Given the description of an element on the screen output the (x, y) to click on. 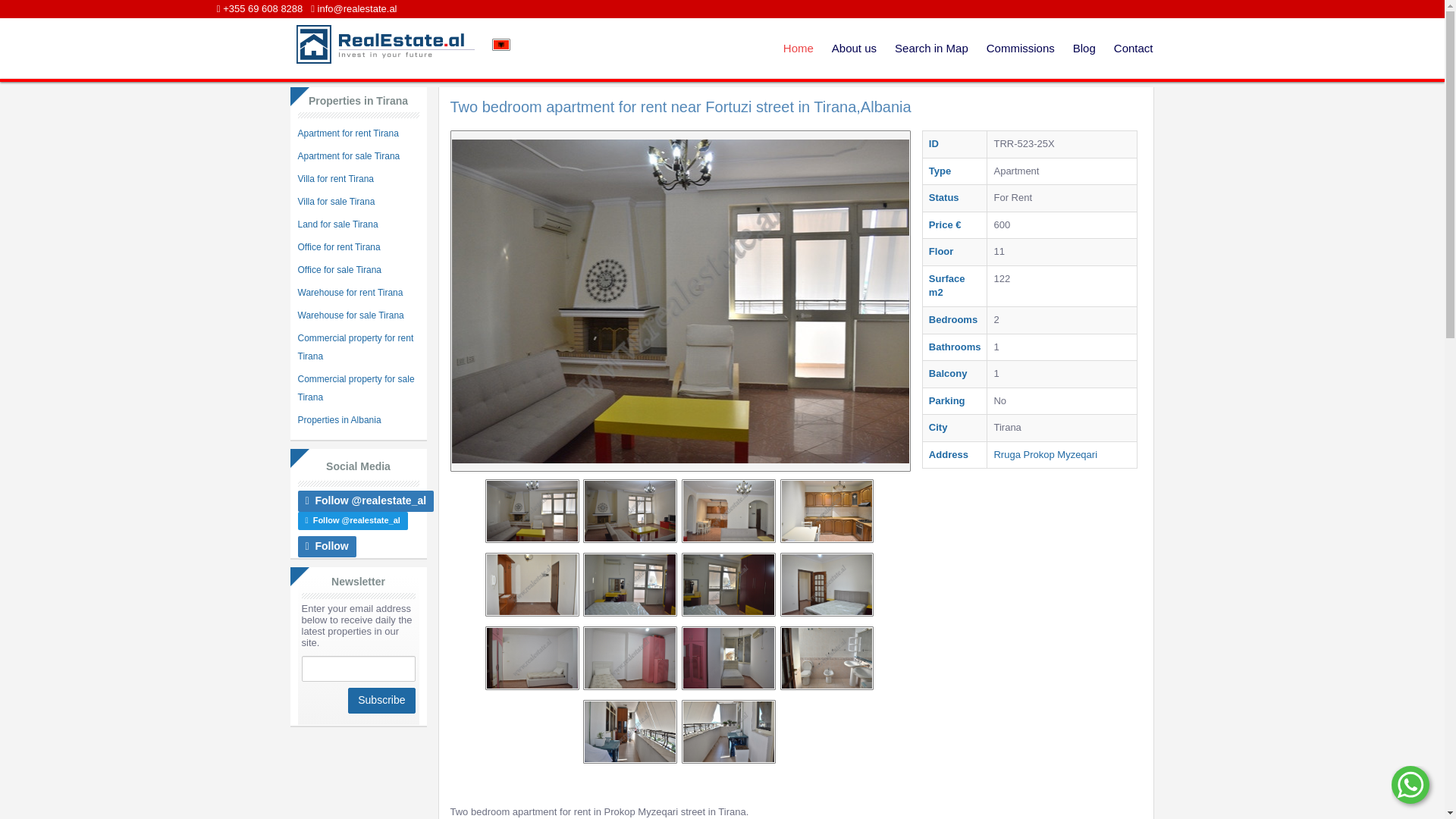
Contact (1133, 48)
ALflag (501, 44)
Image (728, 658)
Real Estate Albania Logo (383, 44)
Image (754, 510)
Image (655, 510)
Subscribe (380, 700)
Image (678, 710)
Image (804, 606)
Search in Map (930, 48)
Image (730, 584)
Image (825, 532)
Image (534, 584)
Rruga Prokop Myzeqari (1044, 454)
